Given the description of an element on the screen output the (x, y) to click on. 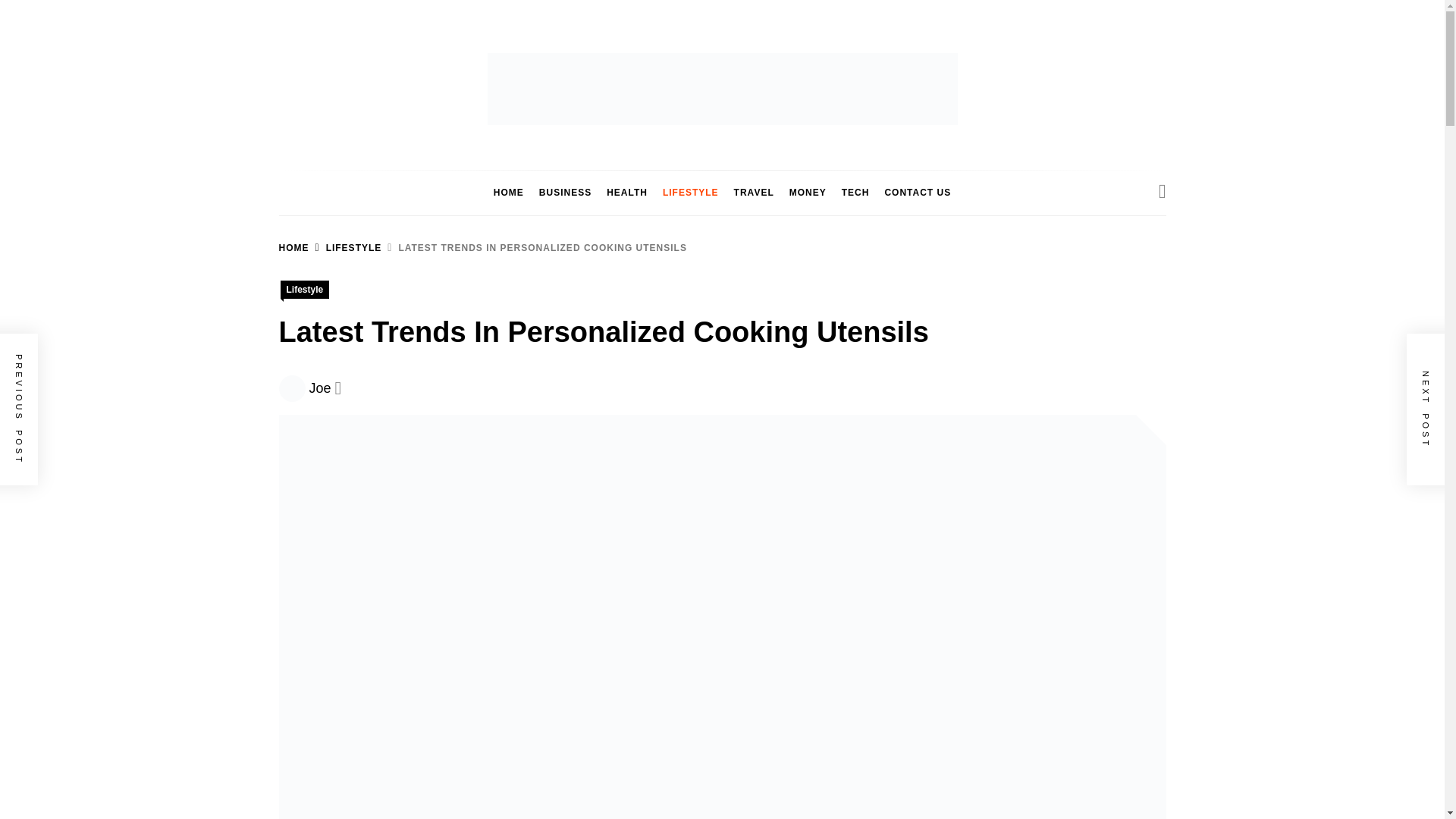
Joe (319, 387)
TECH (855, 192)
HOME (293, 247)
LATEST TRENDS IN PERSONALIZED COOKING UTENSILS (534, 247)
Lifestyle (305, 289)
LIFESTYLE (690, 192)
BUSINESS (564, 192)
HOME (508, 192)
TRAVEL (753, 192)
WHERE IS THE COOL (806, 194)
CONTACT US (917, 192)
MONEY (807, 192)
LIFESTYLE (344, 247)
HEALTH (626, 192)
